Given the description of an element on the screen output the (x, y) to click on. 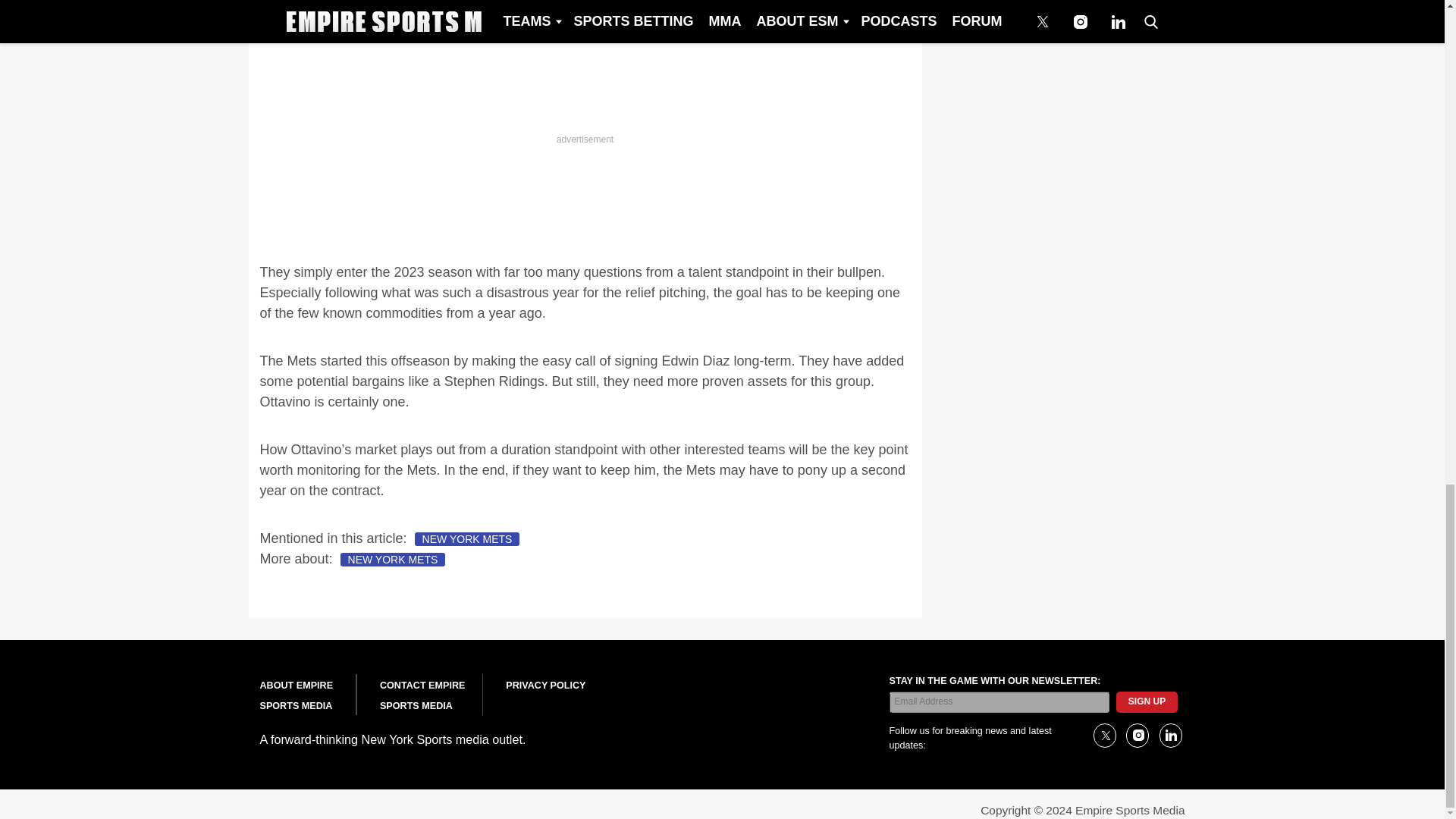
PRIVACY POLICY (545, 685)
Follow us on Twitter (1104, 735)
ABOUT EMPIRE SPORTS MEDIA (296, 695)
NEW YORK METS (466, 539)
NEW YORK METS (392, 559)
Follow us on Instagram (1136, 735)
CONTACT EMPIRE SPORTS MEDIA (422, 695)
Connect with us on LinkedIn (1169, 735)
